Given the description of an element on the screen output the (x, y) to click on. 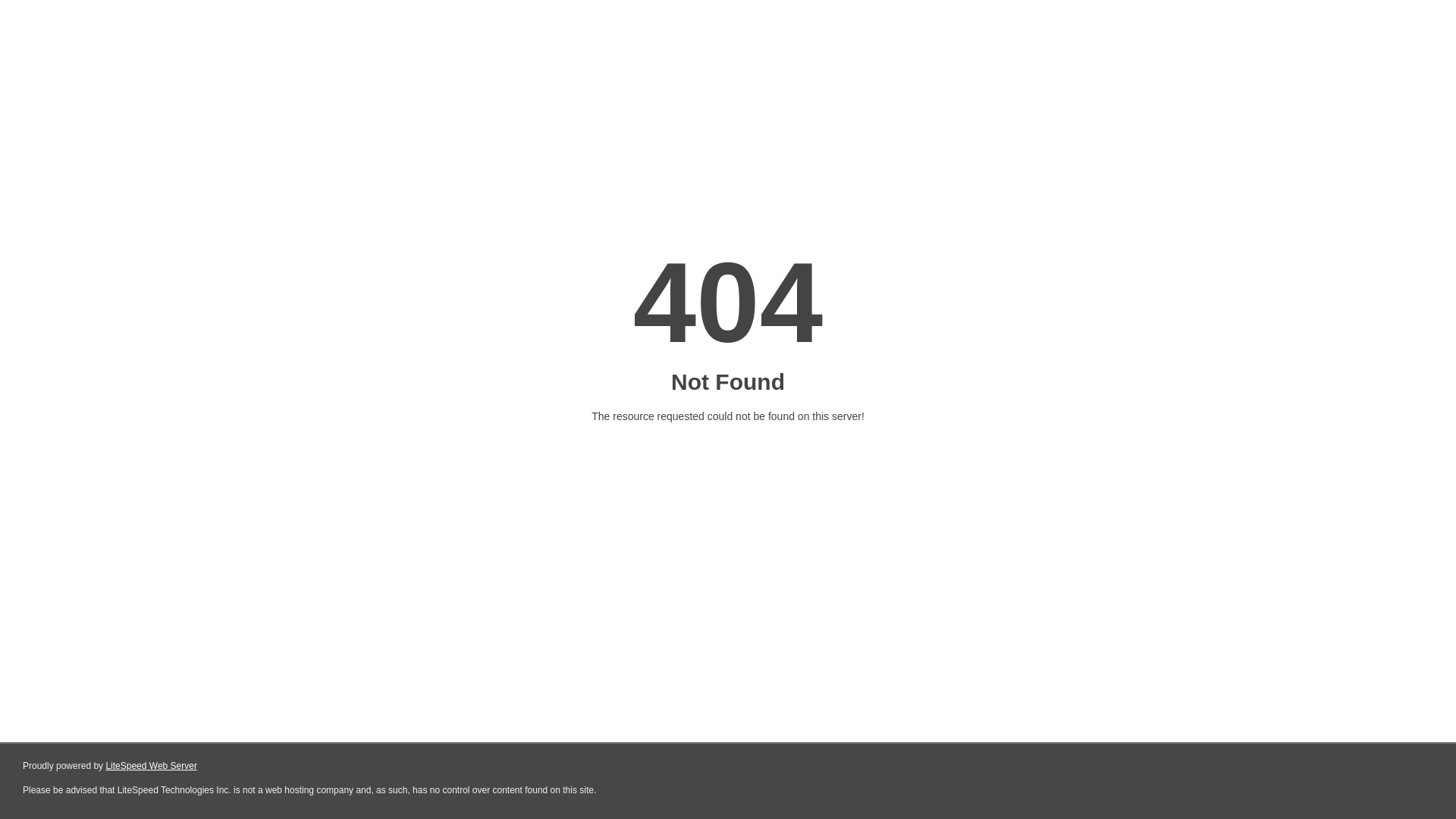
LiteSpeed Web Server Element type: text (151, 765)
